Given the description of an element on the screen output the (x, y) to click on. 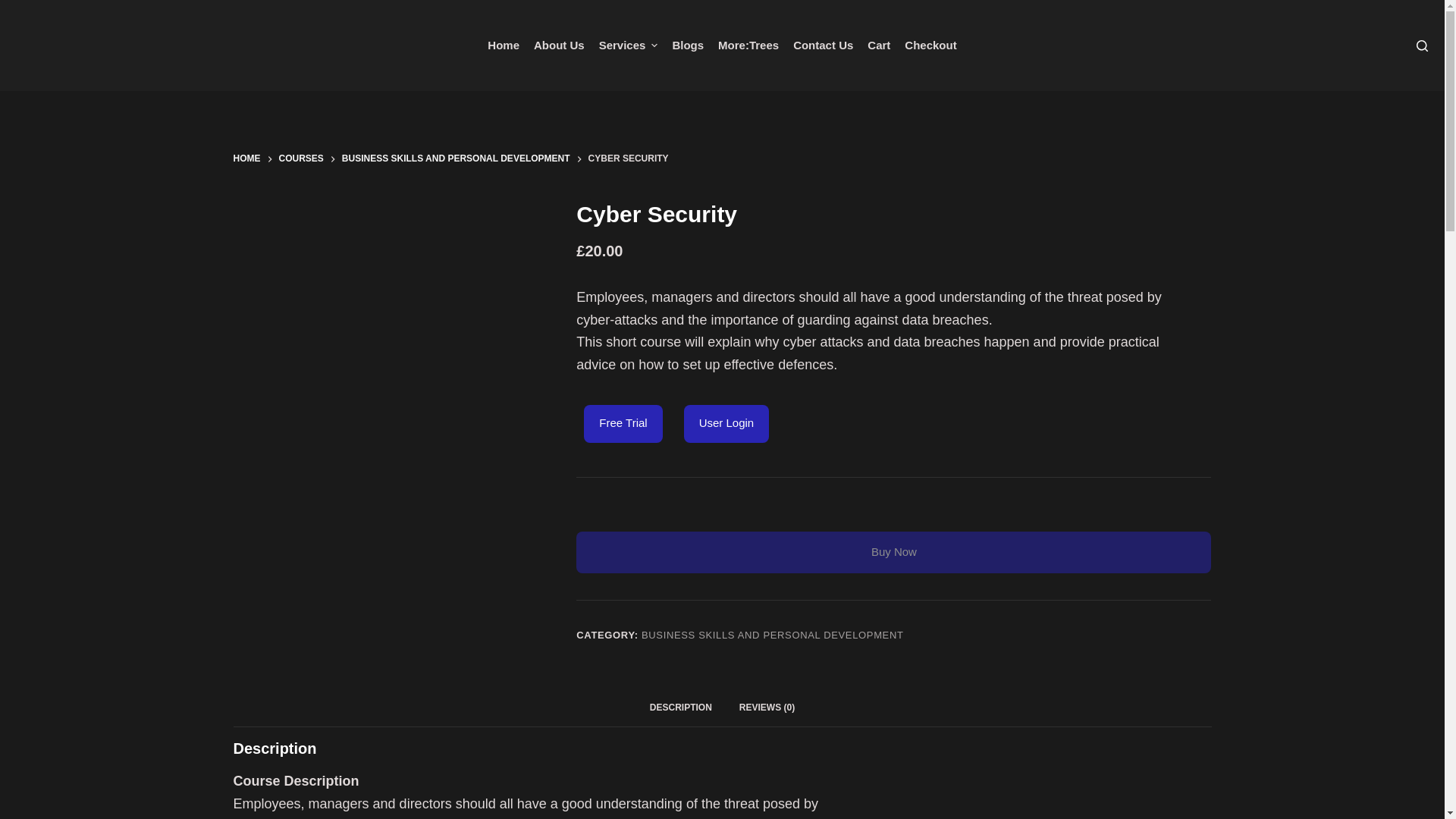
Services (628, 45)
About Us (558, 45)
Home (503, 45)
Skip to content (15, 7)
